Given the description of an element on the screen output the (x, y) to click on. 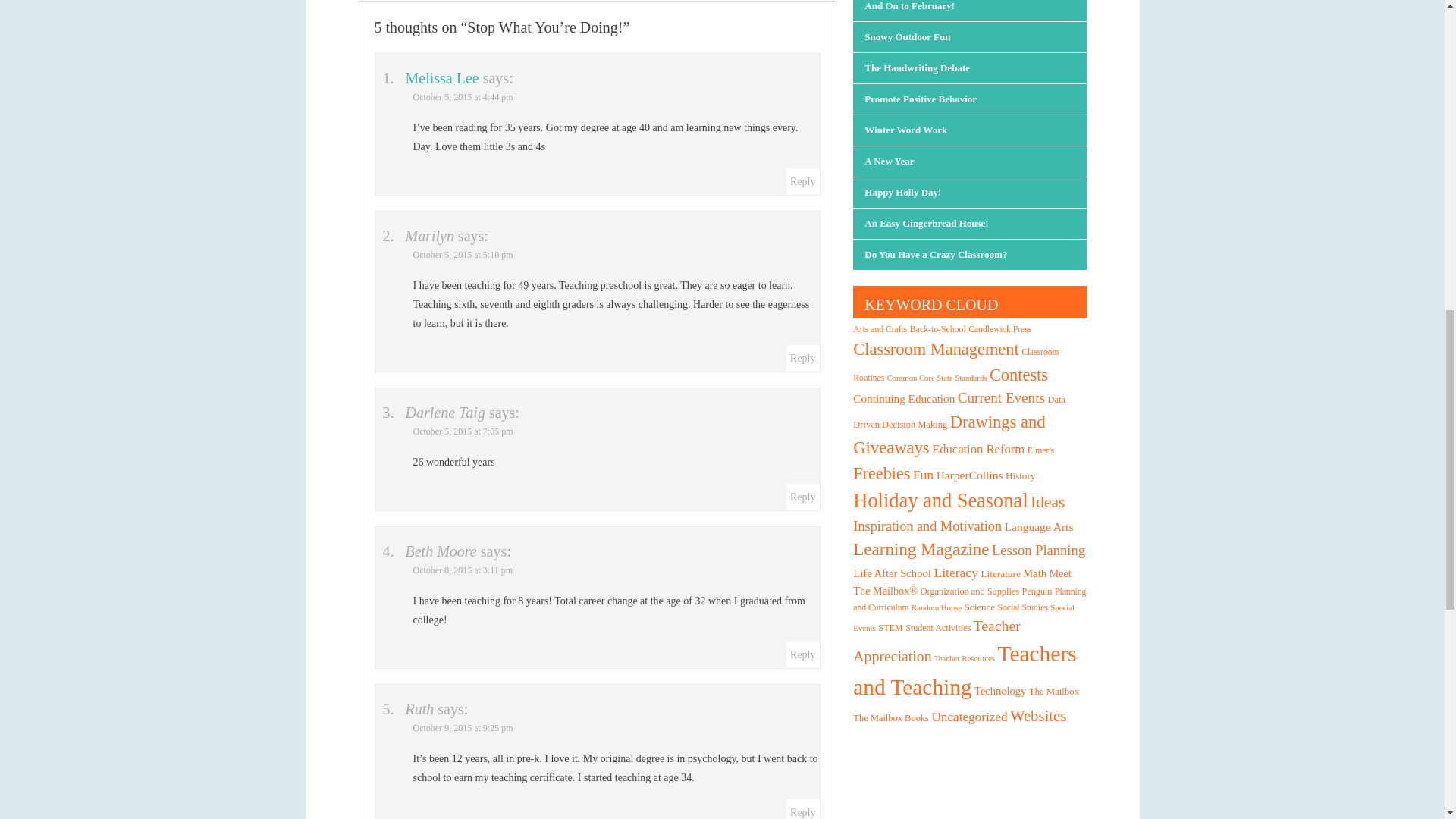
October 5, 2015 at 5:10 pm (462, 254)
October 5, 2015 at 7:05 pm (462, 430)
Reply (802, 654)
Reply (802, 181)
Reply (802, 496)
Reply (802, 357)
Melissa Lee (441, 77)
October 5, 2015 at 4:44 pm (462, 96)
October 8, 2015 at 3:11 pm (462, 570)
Reply (802, 812)
October 9, 2015 at 9:25 pm (462, 727)
